Given the description of an element on the screen output the (x, y) to click on. 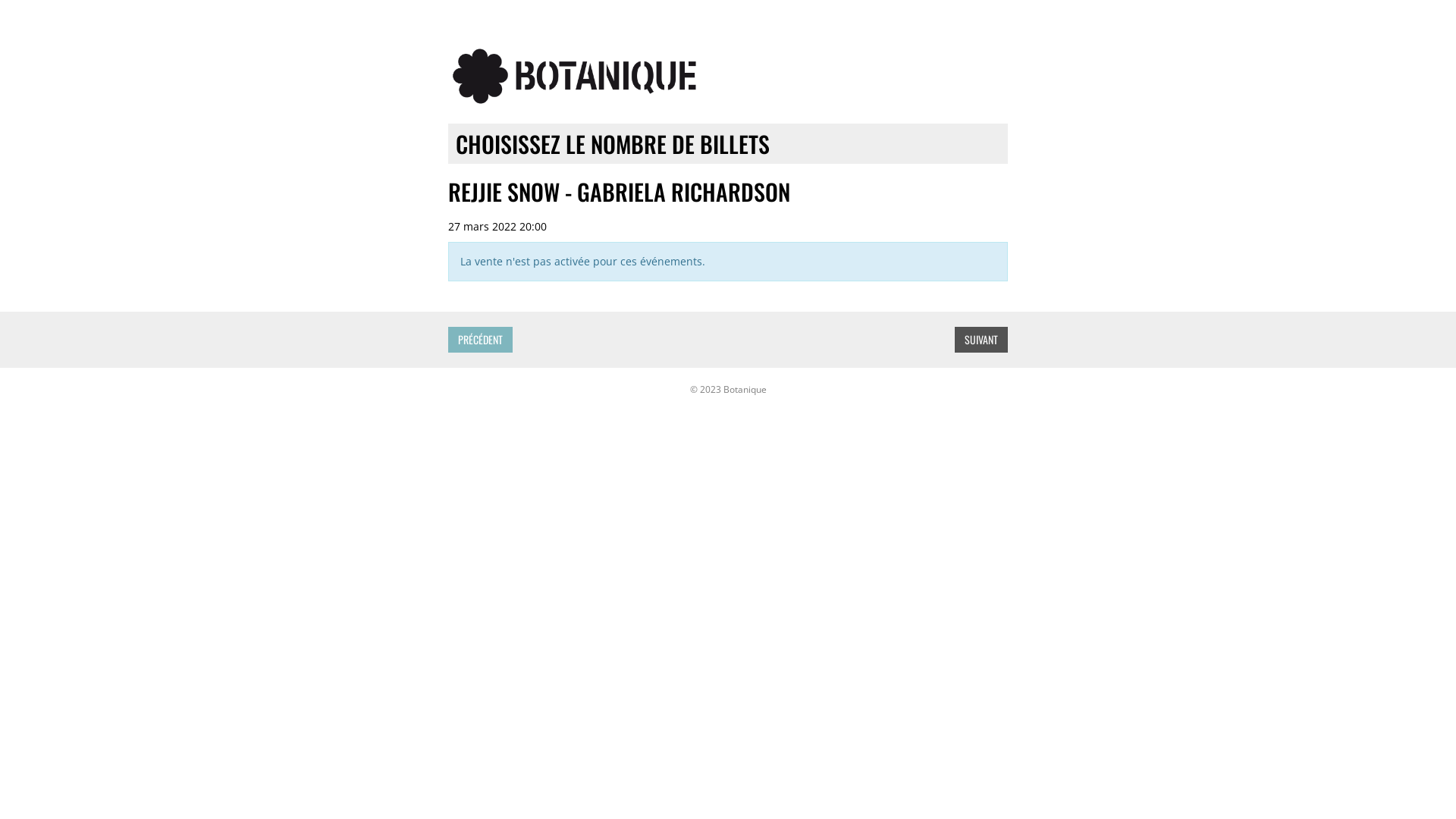
SUIVANT Element type: text (980, 339)
